Given the description of an element on the screen output the (x, y) to click on. 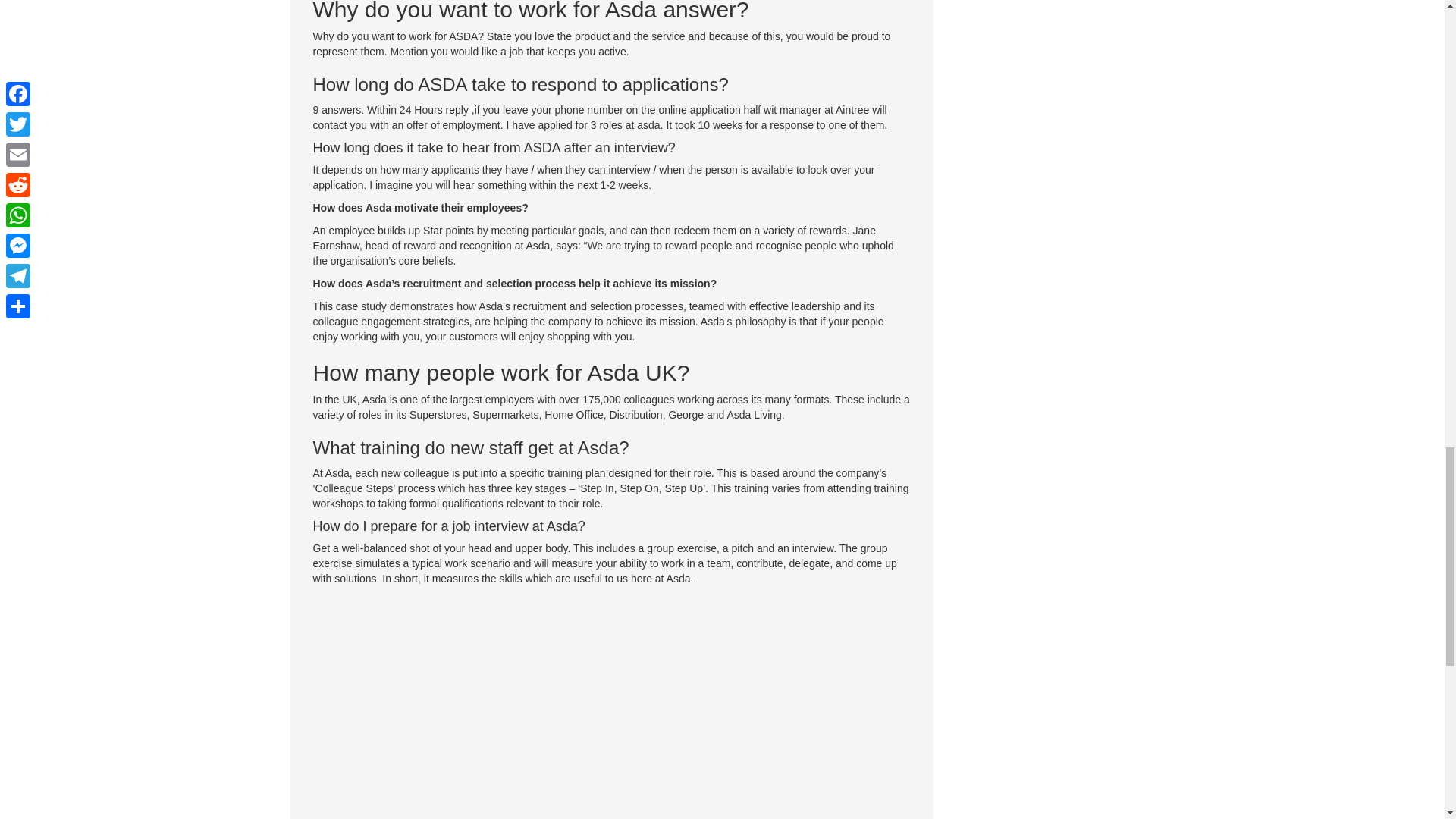
ASDA Job Application Process - Interview Questions 2022 (611, 706)
